Given the description of an element on the screen output the (x, y) to click on. 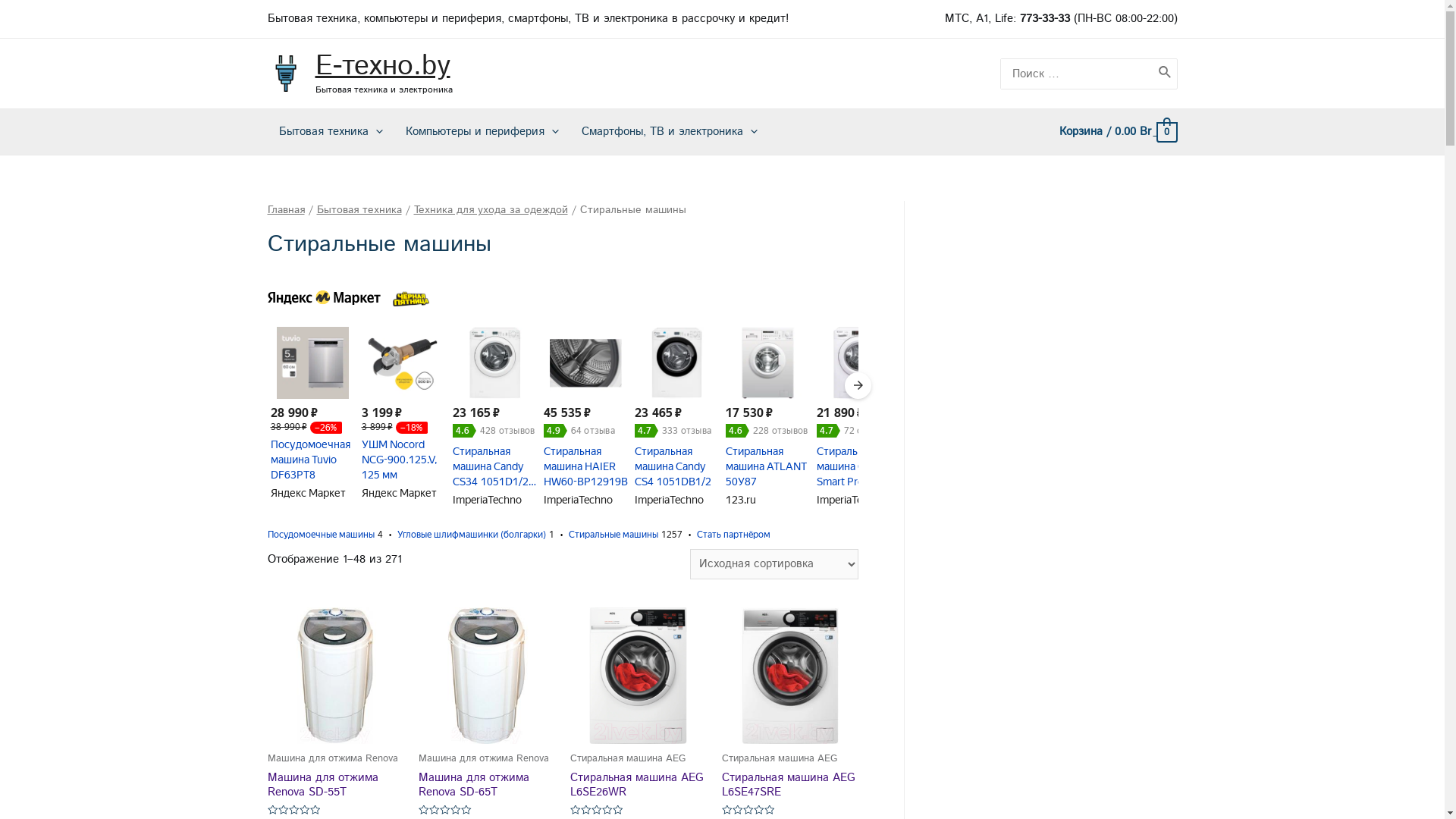
ImperiaTechno Element type: text (485, 499)
4.6 Element type: text (463, 430)
ImperiaTechno Element type: text (576, 499)
123.ru Element type: text (739, 499)
4.7 Element type: text (827, 430)
ImperiaTechno Element type: text (849, 499)
4.6 Element type: text (736, 430)
4.9 Element type: text (554, 430)
4.7 Element type: text (645, 430)
Advertisement Element type: hover (1062, 427)
ImperiaTechno Element type: text (667, 499)
